Given the description of an element on the screen output the (x, y) to click on. 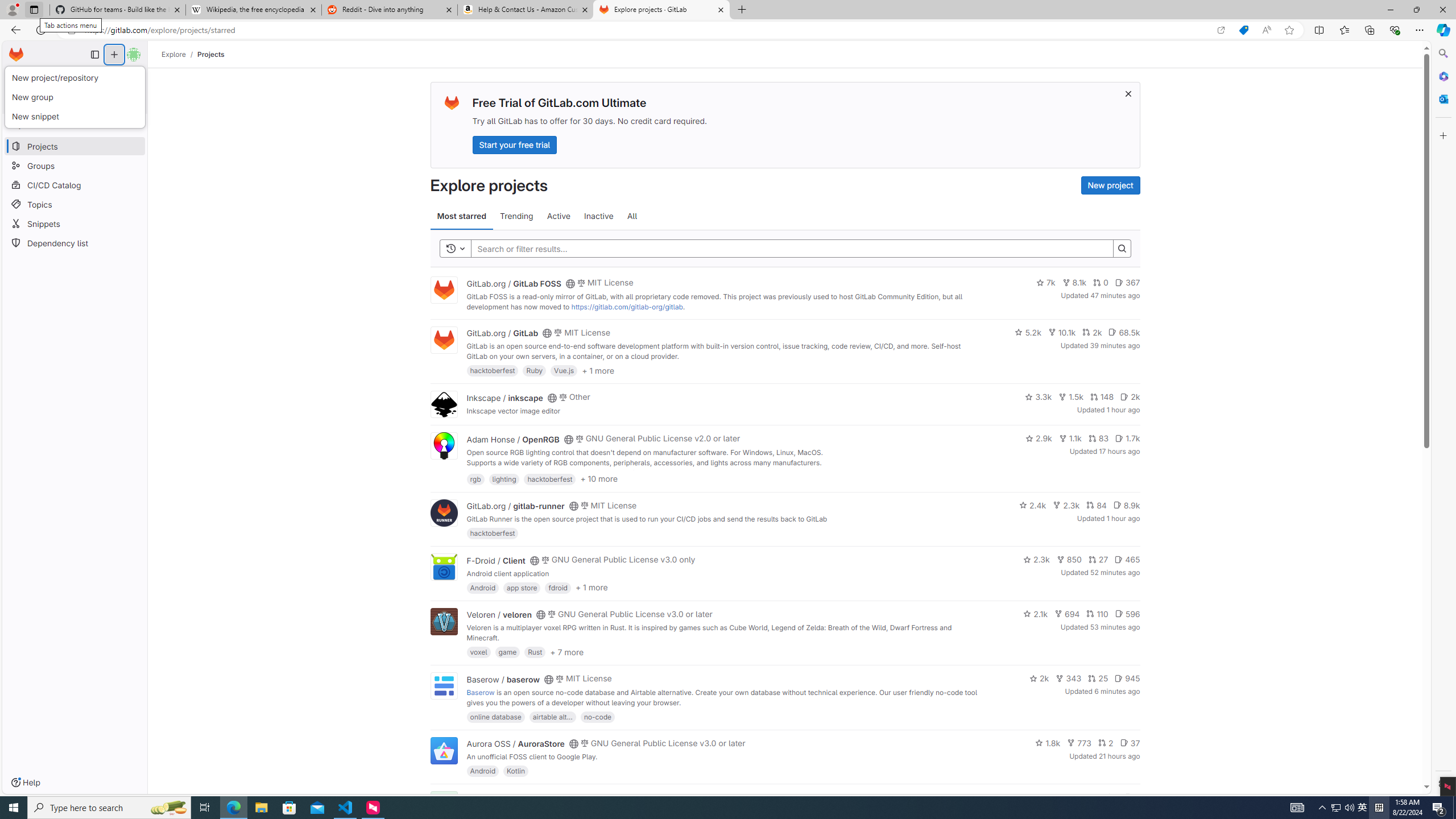
Groups (74, 165)
F (443, 805)
CI/CD Catalog (74, 185)
https://openrgb.org (563, 472)
rgb (475, 478)
Skip to main content (13, 49)
596 (1127, 613)
2k (1039, 678)
lighting (504, 478)
773 (1079, 742)
Vue.js (563, 370)
